Given the description of an element on the screen output the (x, y) to click on. 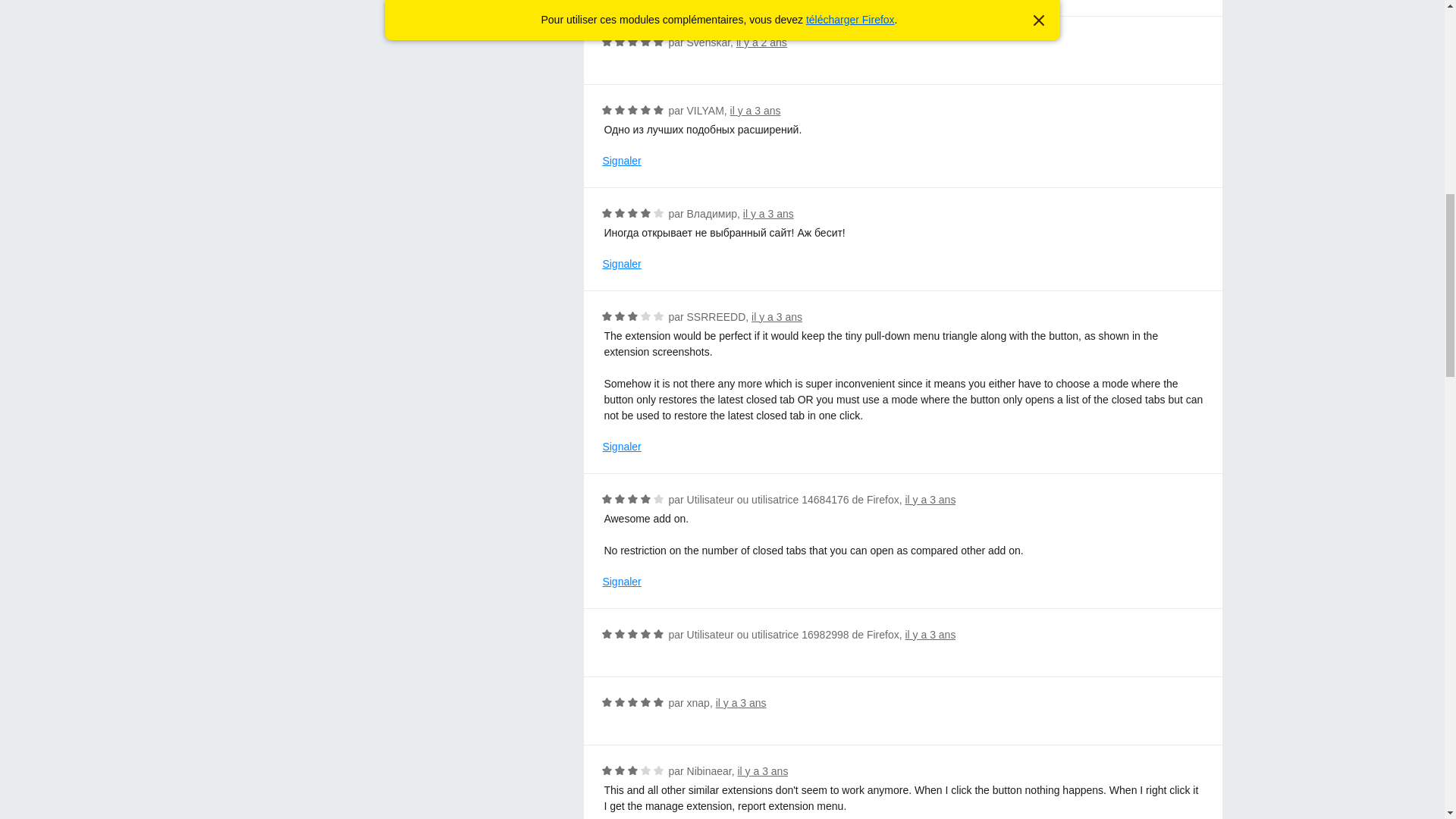
il y a 2 ans (761, 42)
il y a 3 ans (755, 110)
il y a 3 ans (767, 214)
Signaler (621, 263)
Signaler (621, 446)
il y a 3 ans (929, 499)
Signaler (621, 581)
il y a 3 ans (741, 702)
il y a 3 ans (776, 316)
Signaler (621, 160)
il y a 3 ans (761, 770)
il y a 3 ans (929, 634)
